Given the description of an element on the screen output the (x, y) to click on. 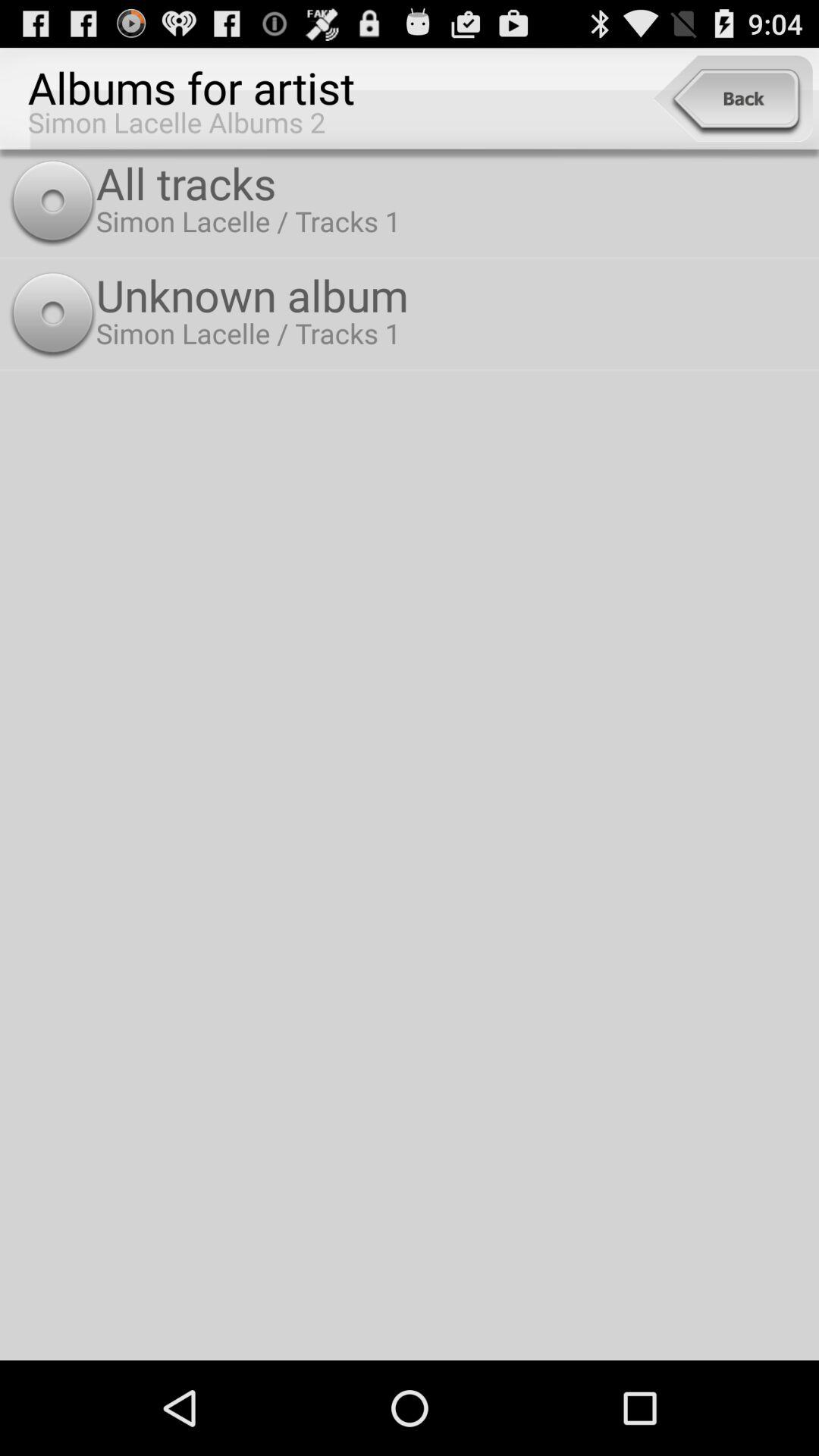
choose the item to the right of the albums for artist (732, 98)
